Given the description of an element on the screen output the (x, y) to click on. 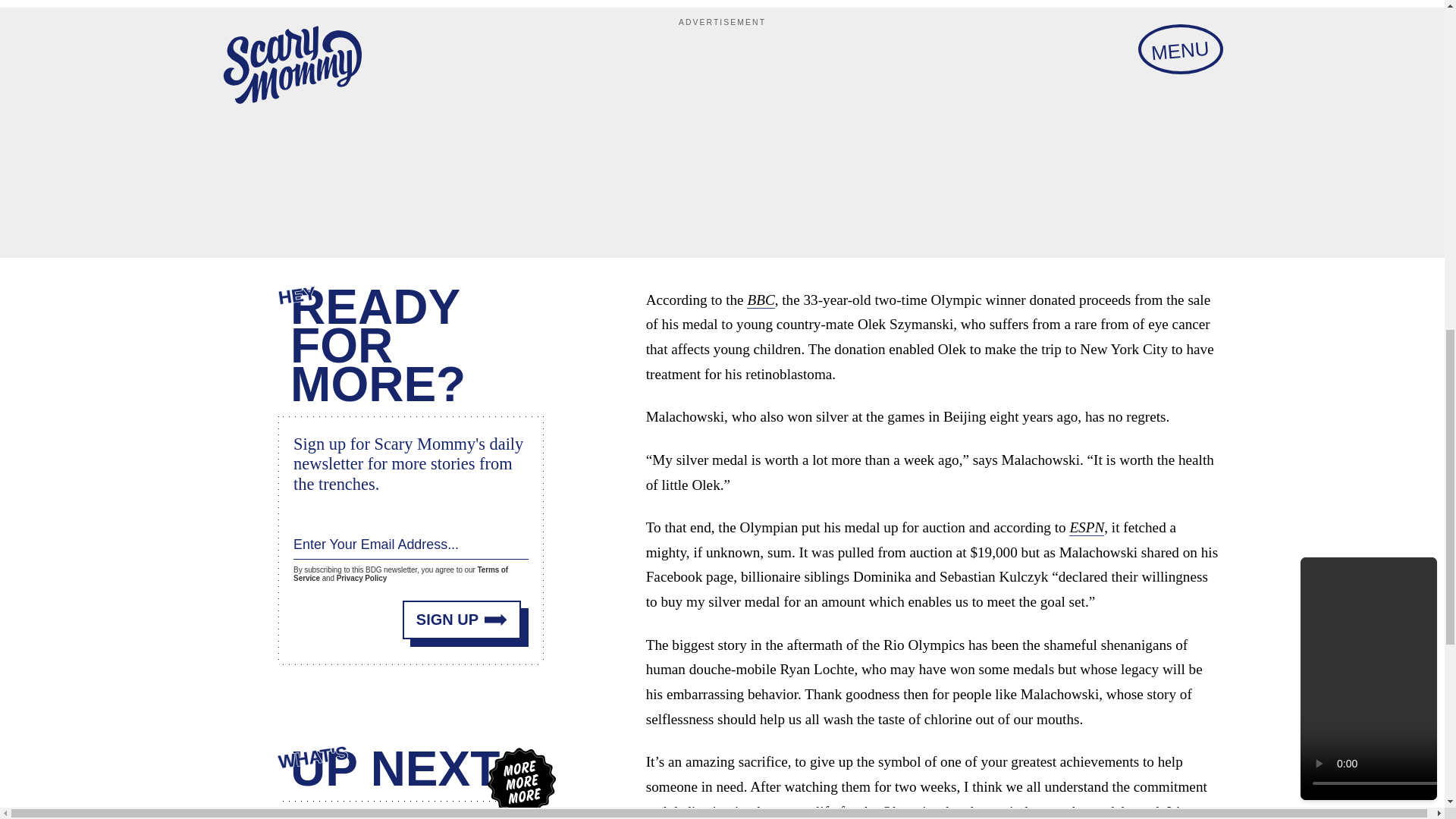
Privacy Policy (361, 578)
Terms of Service (401, 573)
ESPN (1085, 527)
BBC (760, 299)
SIGN UP (462, 619)
